Given the description of an element on the screen output the (x, y) to click on. 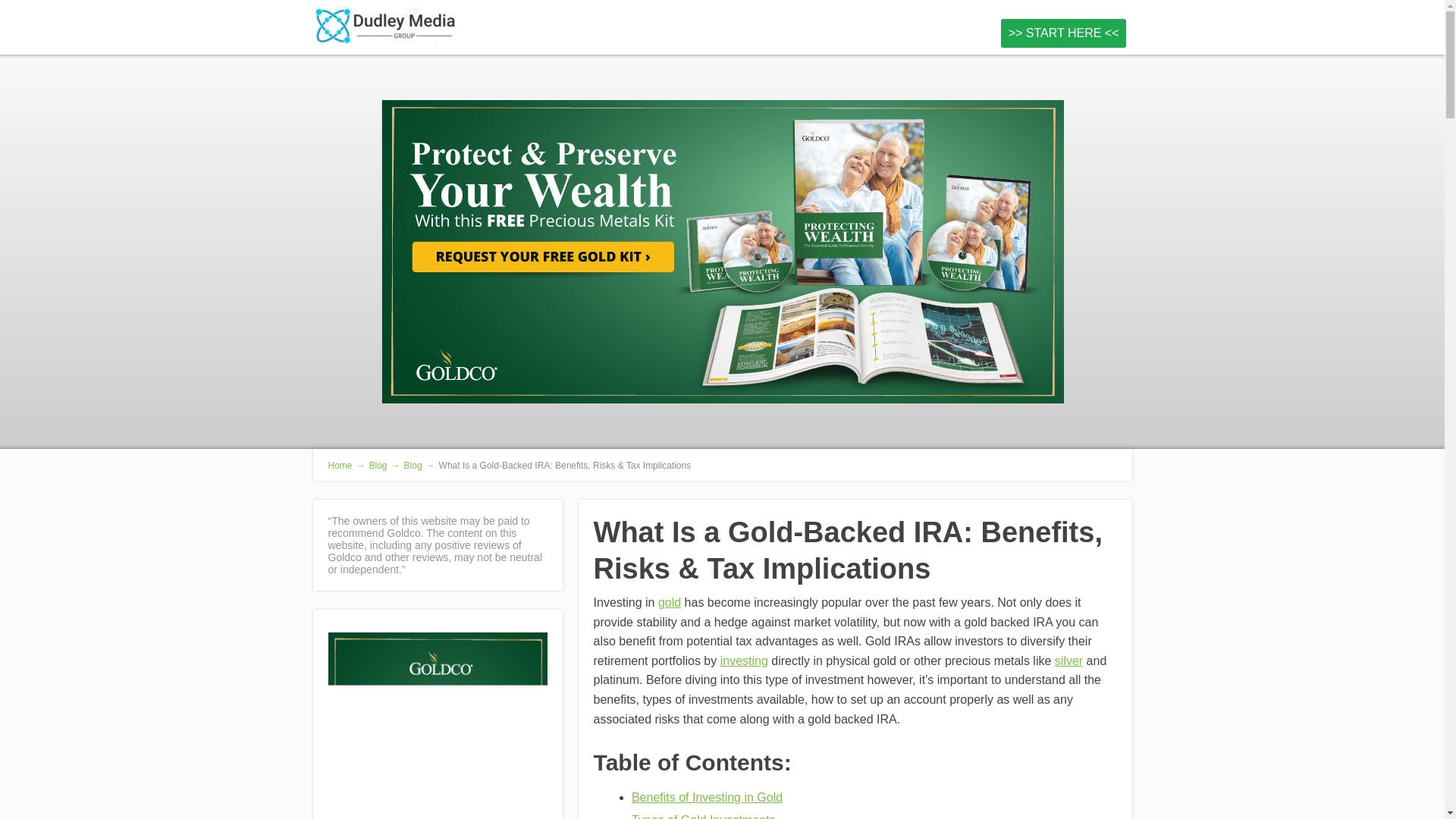
silver (1068, 660)
Types of Gold Investments (702, 816)
investing (744, 660)
Silver (1068, 660)
Benefits of Investing in Gold (707, 797)
Investing (744, 660)
Gold (669, 602)
gold (669, 602)
